Given the description of an element on the screen output the (x, y) to click on. 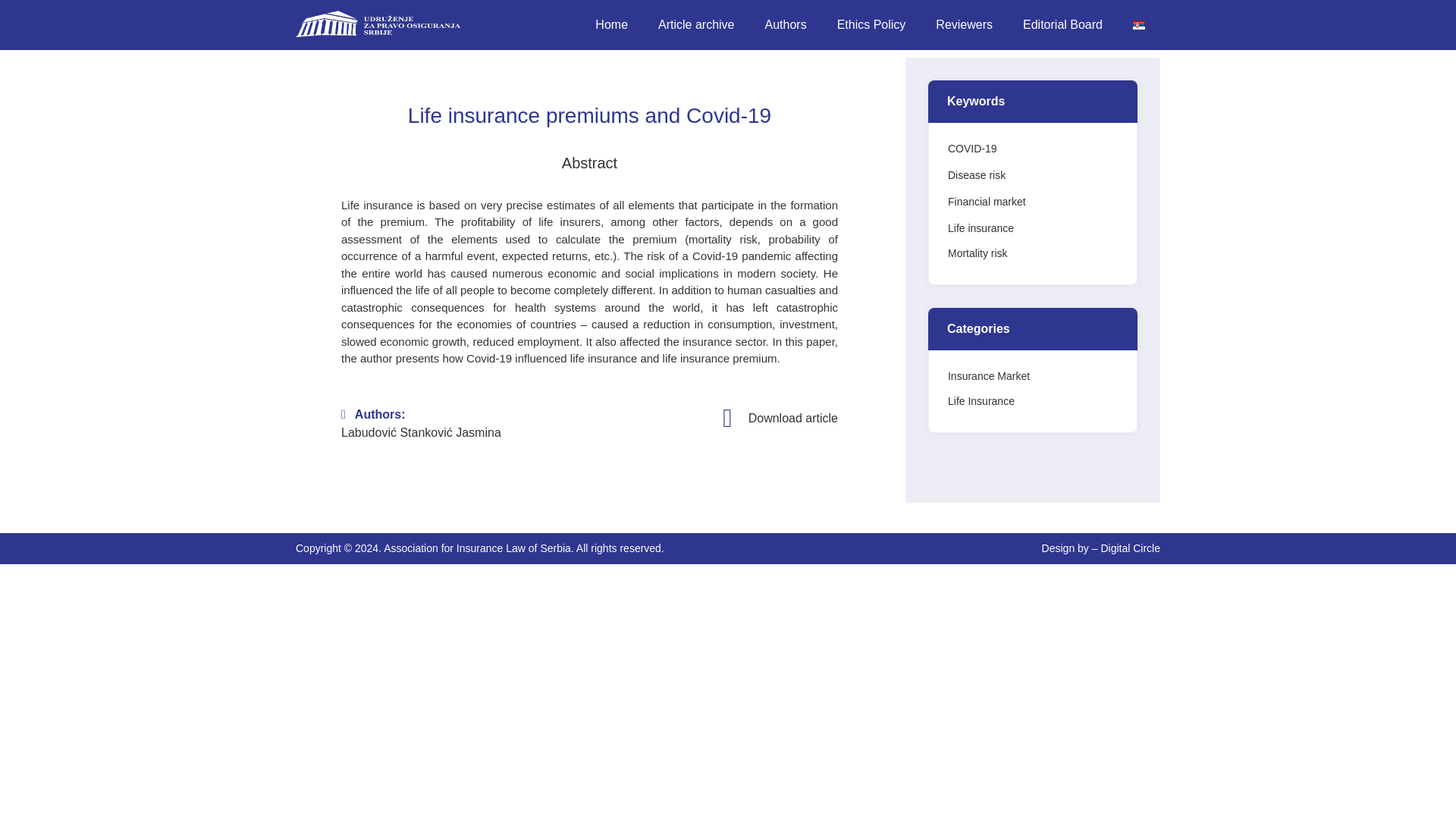
Editorial Board (1062, 24)
Life Insurance (980, 404)
Article archive (696, 24)
Home (611, 24)
Authors (785, 24)
COVID-19 (972, 152)
Digital Circle (1130, 548)
Disease risk (976, 178)
Life insurance (980, 232)
Insurance Market (988, 380)
